Given the description of an element on the screen output the (x, y) to click on. 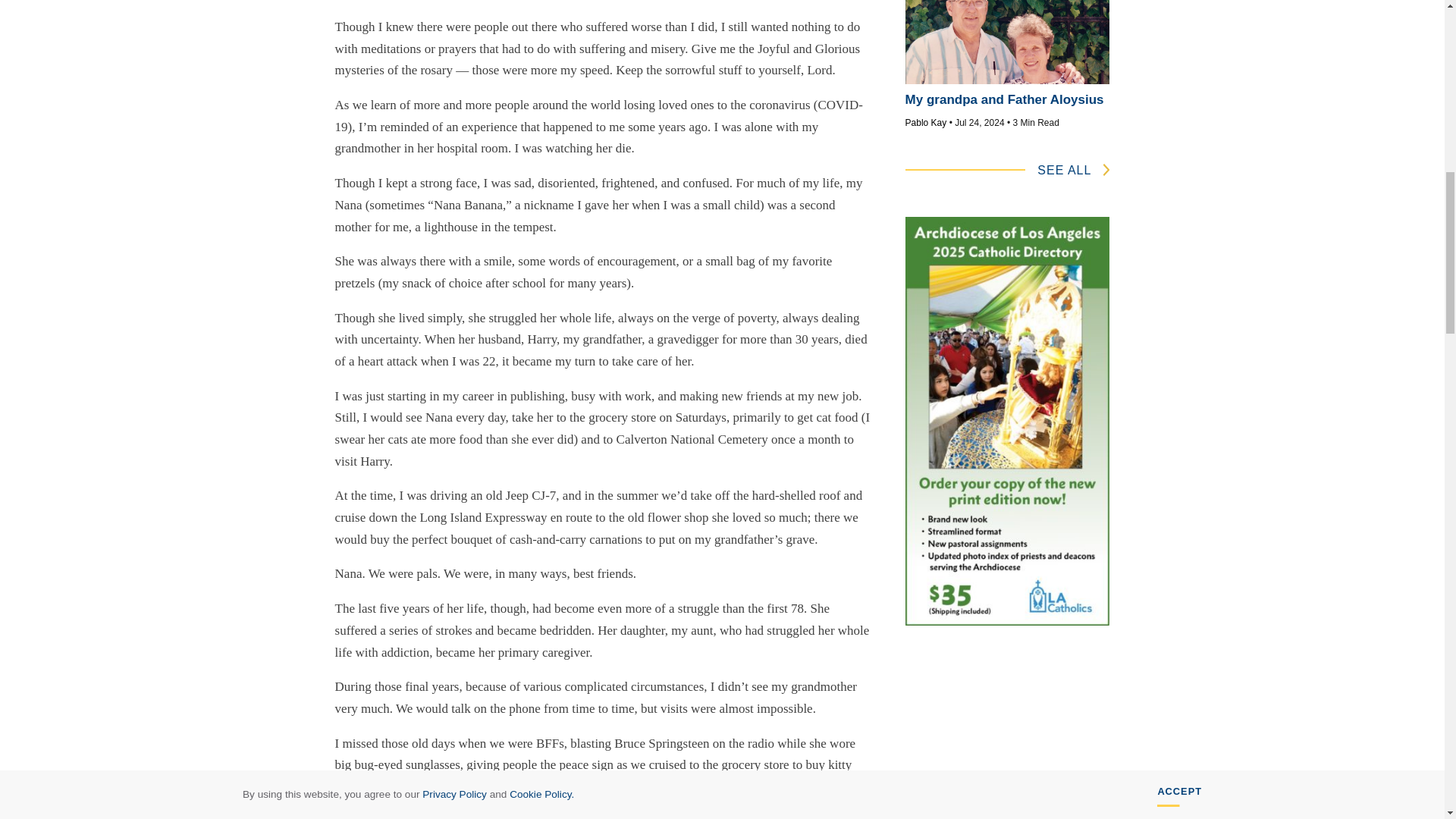
Posts by Pablo Kay (926, 122)
